Given the description of an element on the screen output the (x, y) to click on. 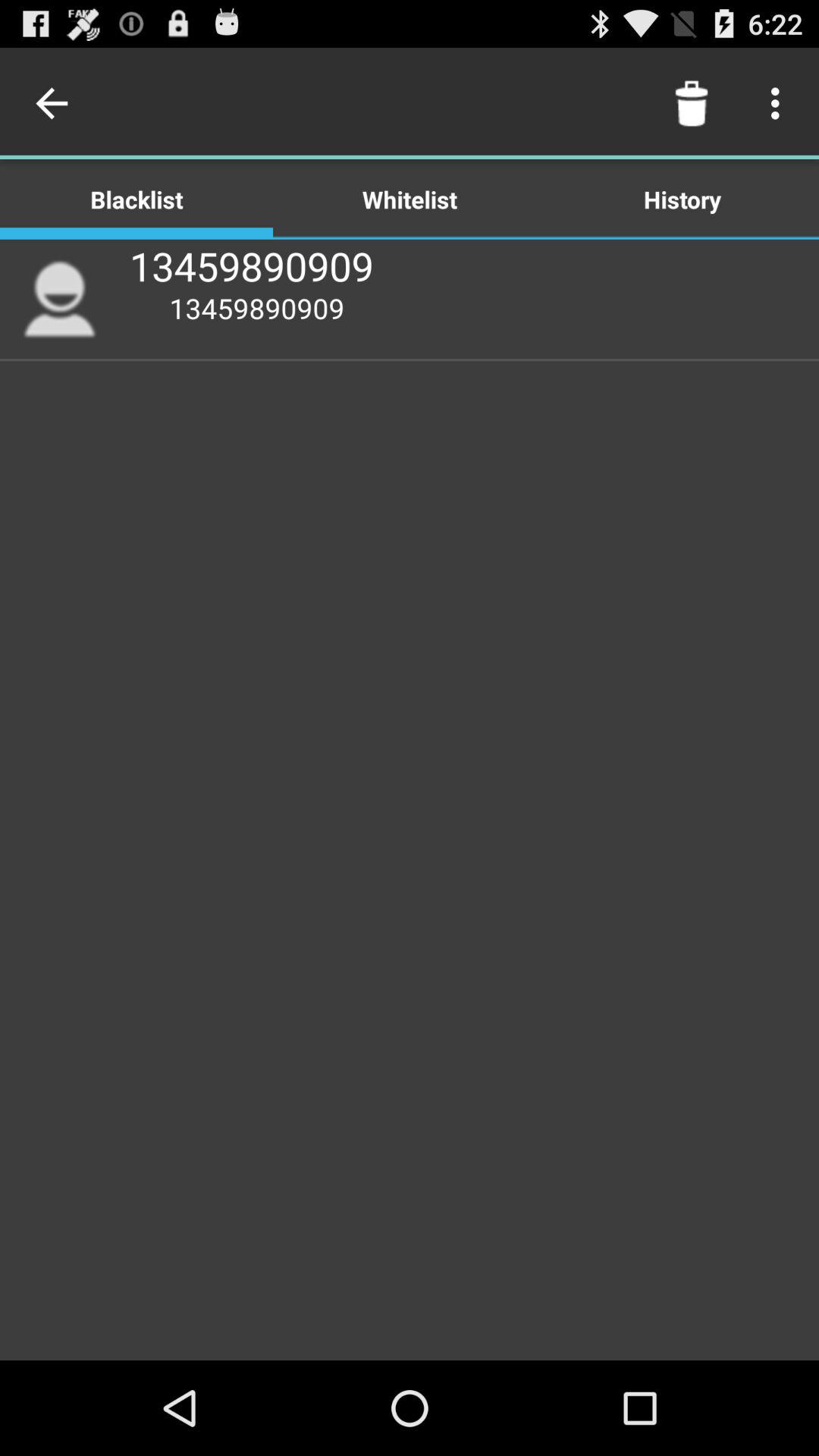
choose the blacklist (136, 199)
